Given the description of an element on the screen output the (x, y) to click on. 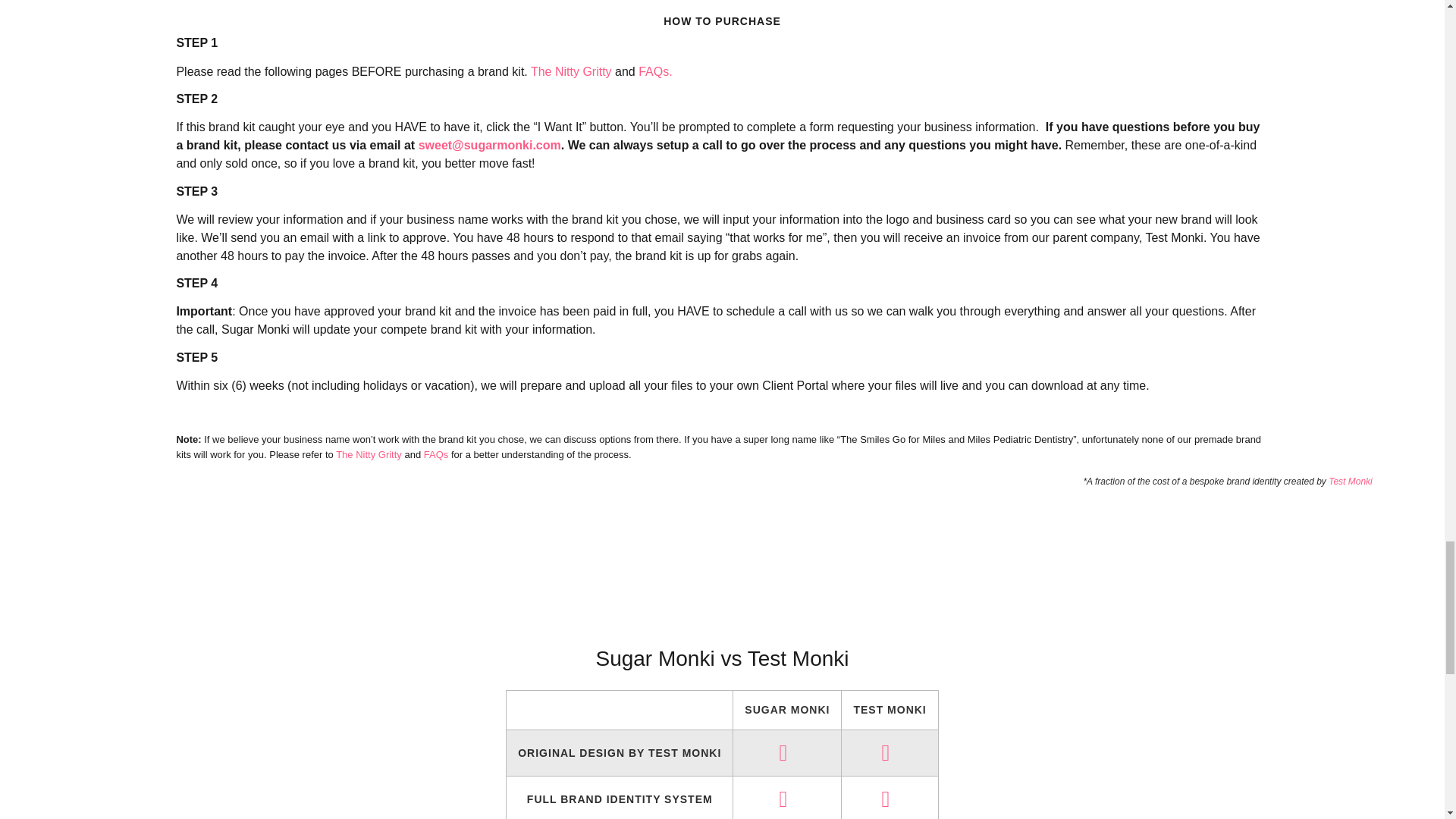
FAQs (435, 454)
The Nitty Gritty (368, 454)
Test Monki (1350, 480)
FAQs. (655, 71)
The Nitty Gritty (571, 71)
